Given the description of an element on the screen output the (x, y) to click on. 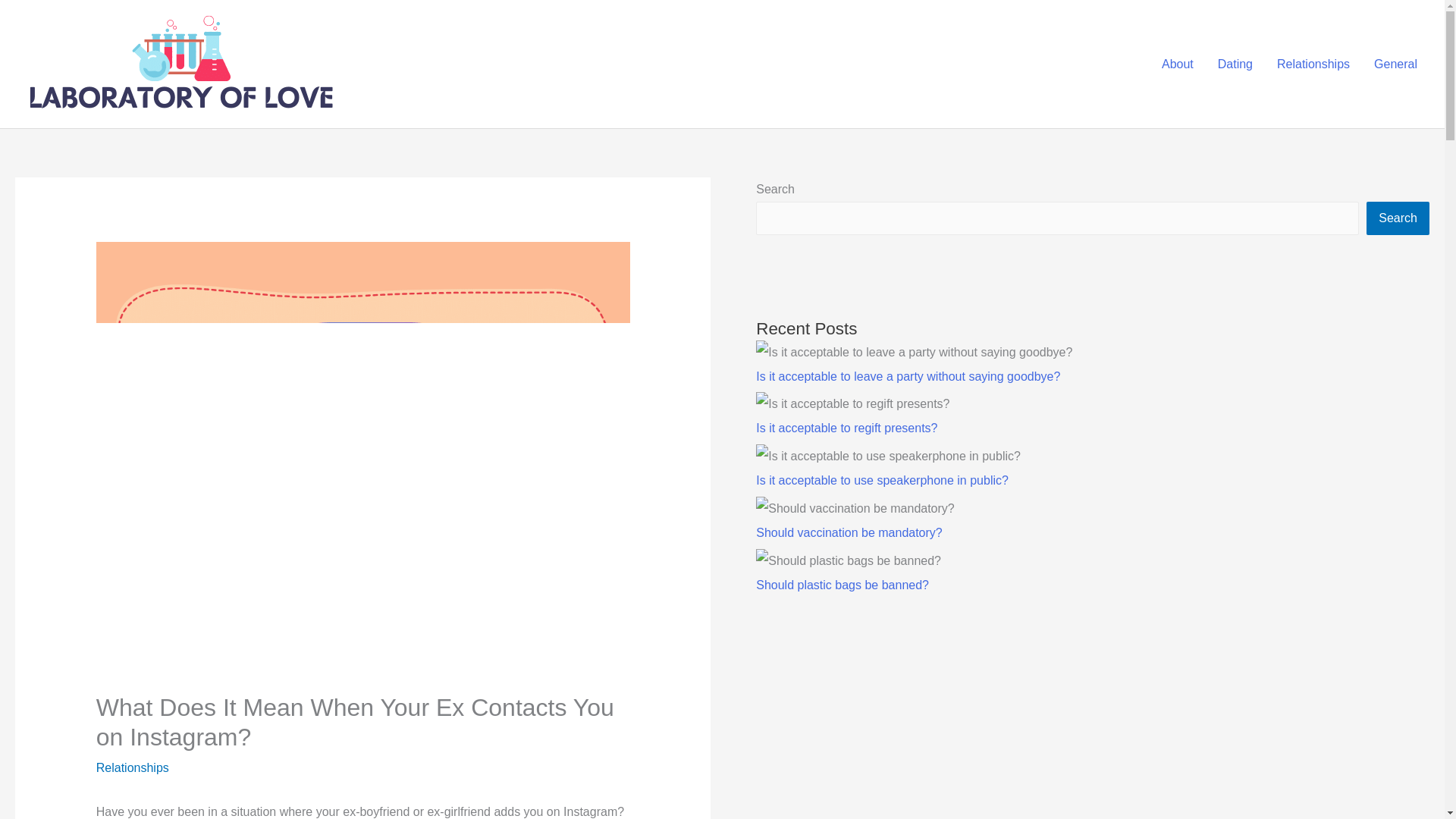
Relationships (132, 767)
Is it acceptable to leave a party without saying goodbye? (907, 376)
Search (1398, 218)
General (1395, 63)
Is it acceptable to regift presents? (846, 427)
Relationships (1313, 63)
Should vaccination be mandatory? (848, 532)
Is it acceptable to use speakerphone in public? (882, 480)
About (1177, 63)
Dating (1235, 63)
